Given the description of an element on the screen output the (x, y) to click on. 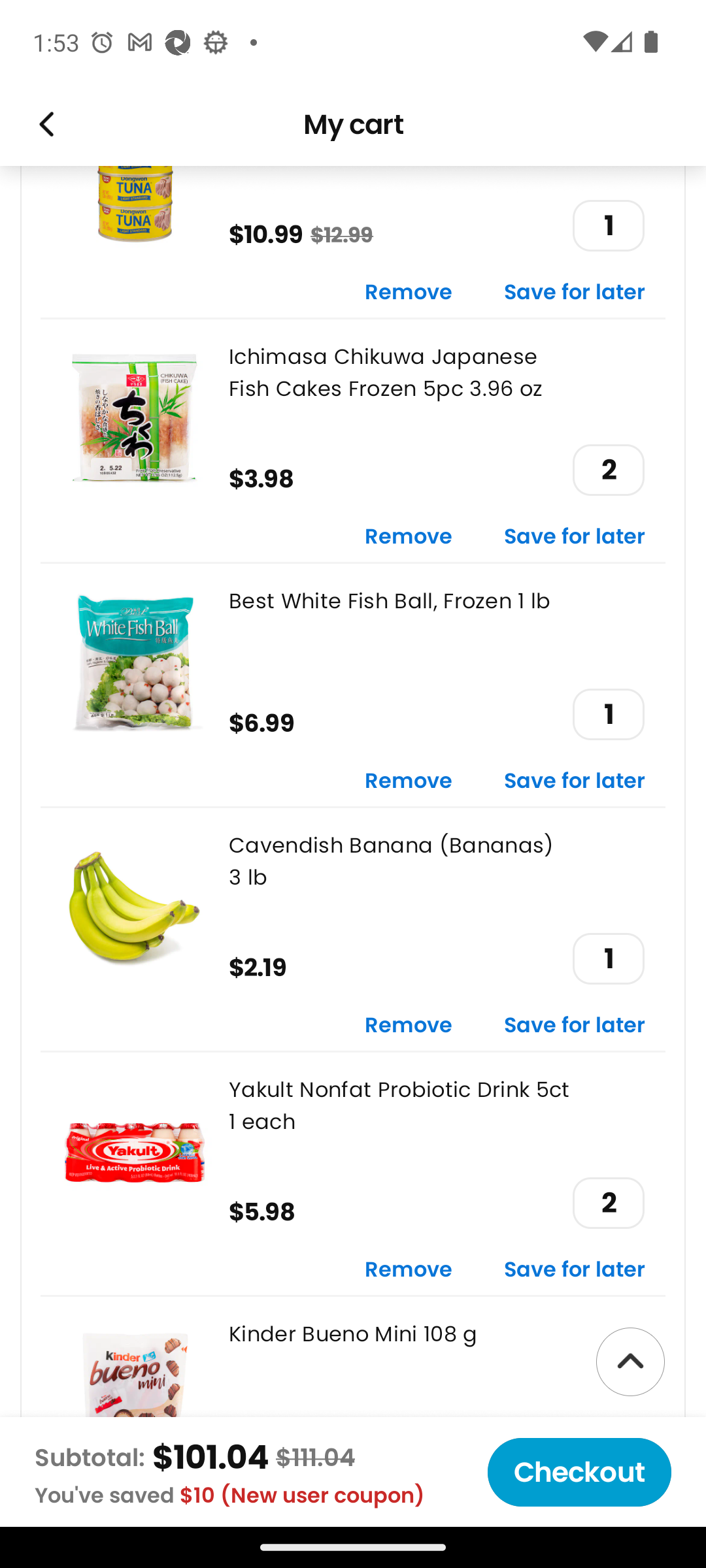
$10.99 $12.99 1 Remove Save for later (352, 241)
1 (608, 225)
Remove (408, 292)
Save for later (574, 292)
2 (608, 469)
Remove (408, 536)
Save for later (574, 536)
1 (608, 714)
Remove (408, 781)
Save for later (574, 781)
1 (608, 958)
Remove (408, 1025)
Save for later (574, 1025)
2 (608, 1203)
Remove (408, 1270)
Save for later (574, 1270)
Checkout (579, 1471)
